Given the description of an element on the screen output the (x, y) to click on. 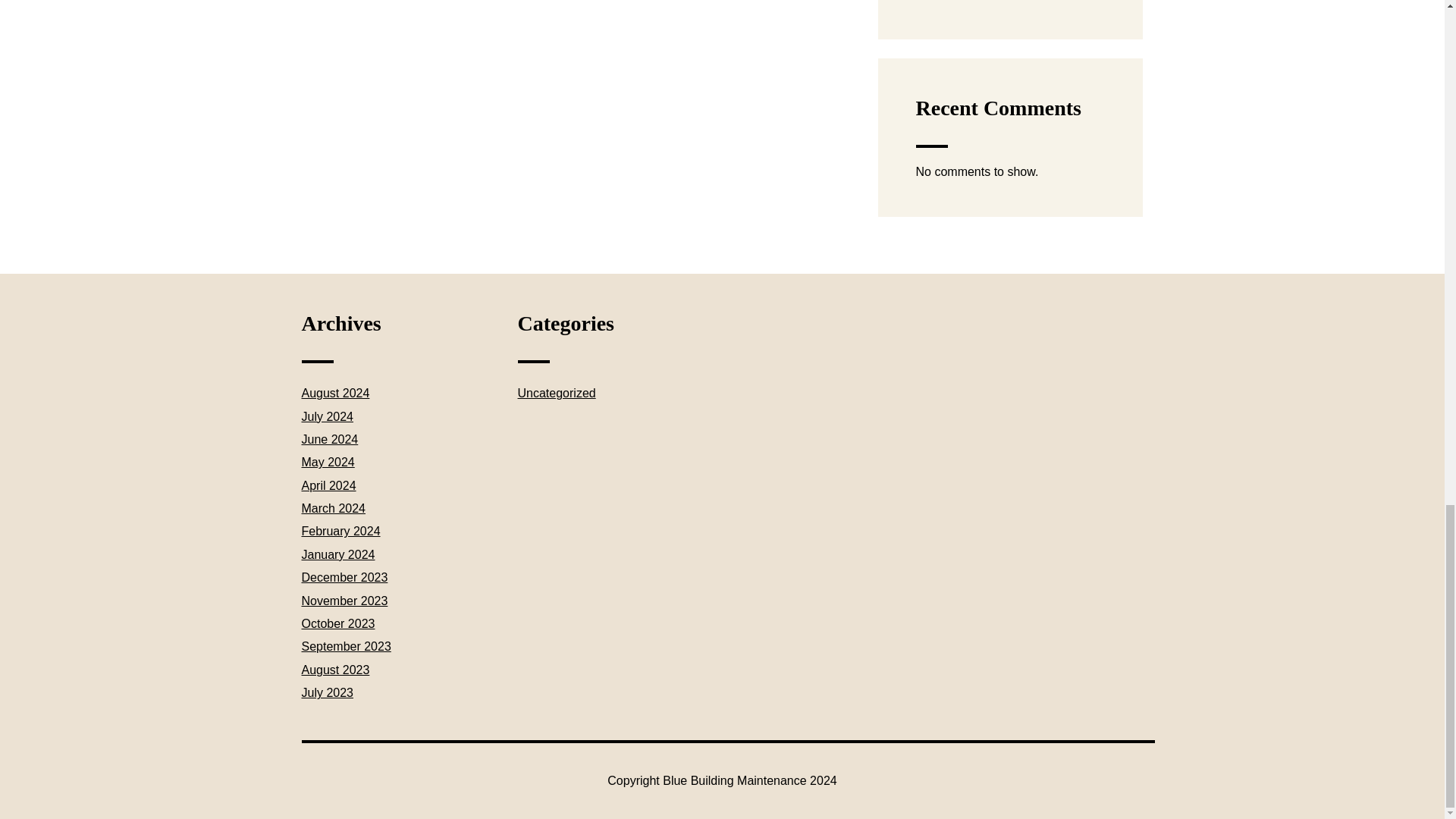
September 2023 (346, 645)
August 2023 (335, 669)
November 2023 (344, 600)
May 2024 (328, 461)
April 2024 (328, 485)
June 2024 (329, 439)
December 2023 (344, 576)
October 2023 (338, 623)
February 2024 (340, 530)
July 2024 (327, 416)
August 2024 (335, 392)
July 2023 (327, 692)
January 2024 (338, 554)
Uncategorized (555, 392)
March 2024 (333, 508)
